Given the description of an element on the screen output the (x, y) to click on. 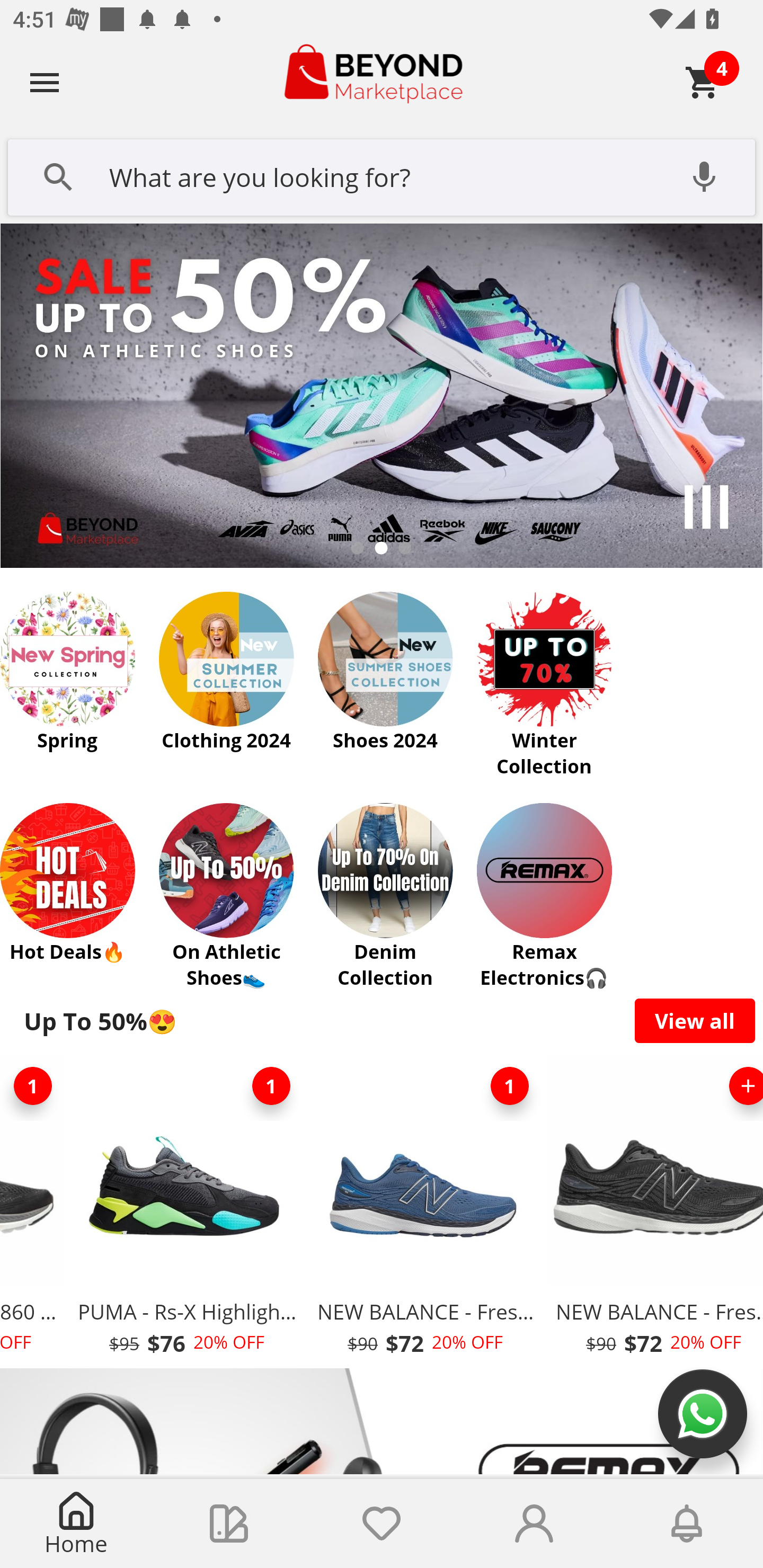
Navigate up (44, 82)
What are you looking for? (381, 175)
View all (694, 1020)
1 (33, 1085)
1 (270, 1085)
1 (509, 1085)
Collections (228, 1523)
Wishlist (381, 1523)
Account (533, 1523)
Notifications (686, 1523)
